Given the description of an element on the screen output the (x, y) to click on. 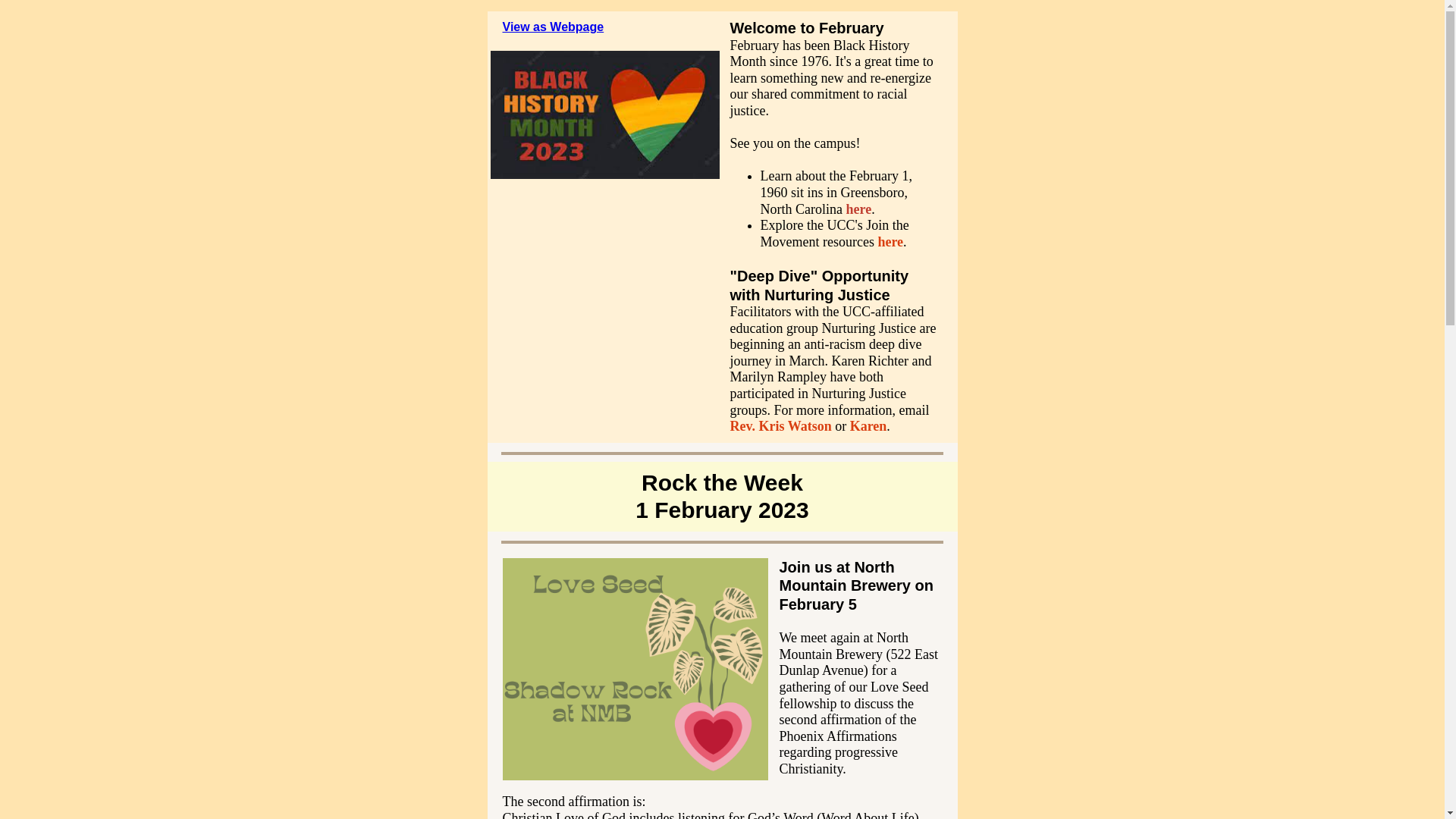
here (857, 209)
here (889, 241)
Rev. Kris Watson (780, 426)
Karen (868, 426)
View as Webpage (553, 26)
